Given the description of an element on the screen output the (x, y) to click on. 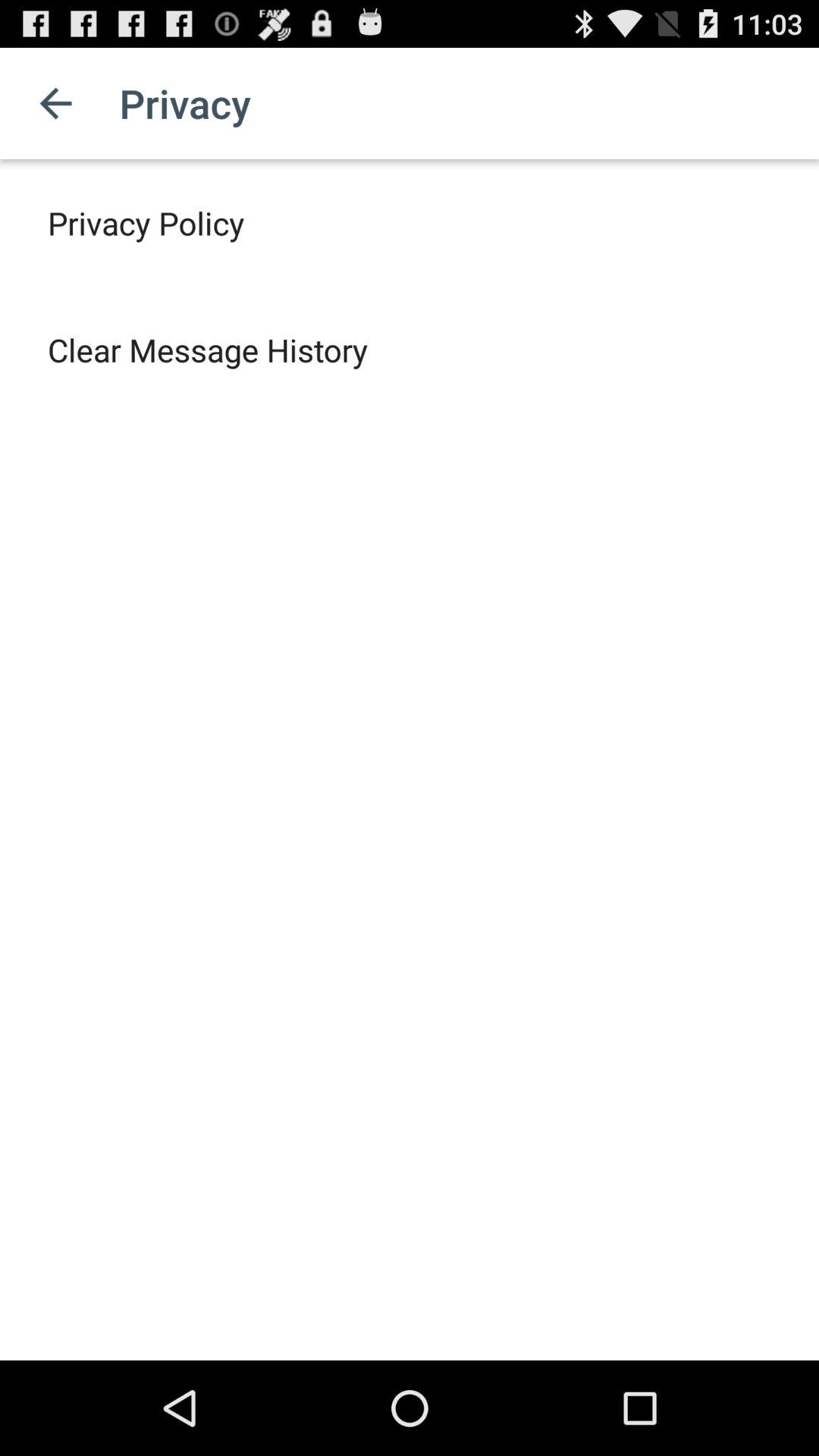
turn off the icon above clear message history icon (145, 222)
